Given the description of an element on the screen output the (x, y) to click on. 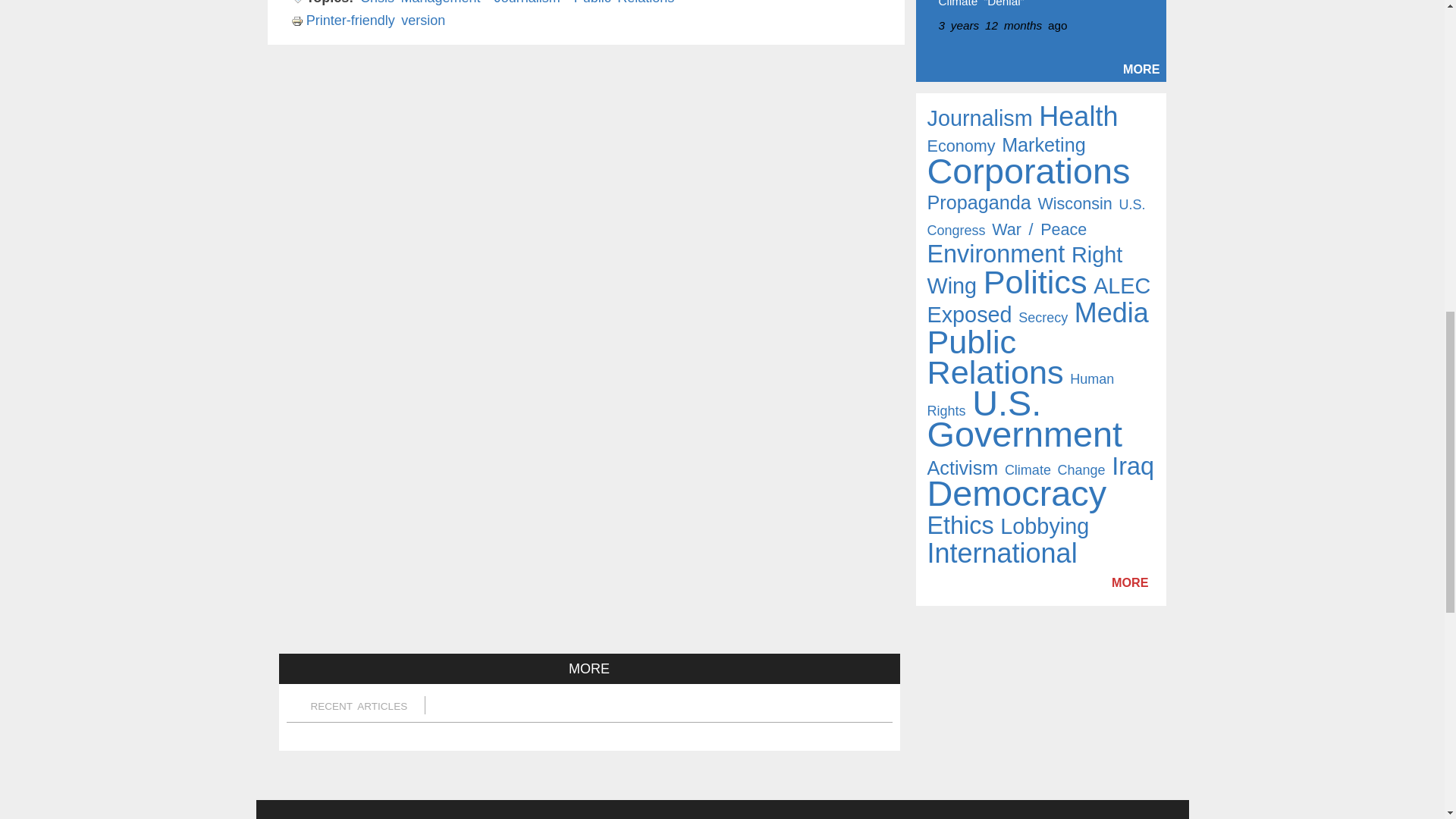
Display a printer-friendly version of this page. (368, 20)
Crisis Management (419, 2)
Journalism (527, 2)
Printer-friendly version (368, 20)
Printer-friendly version (298, 21)
Public Relations (624, 2)
